Given the description of an element on the screen output the (x, y) to click on. 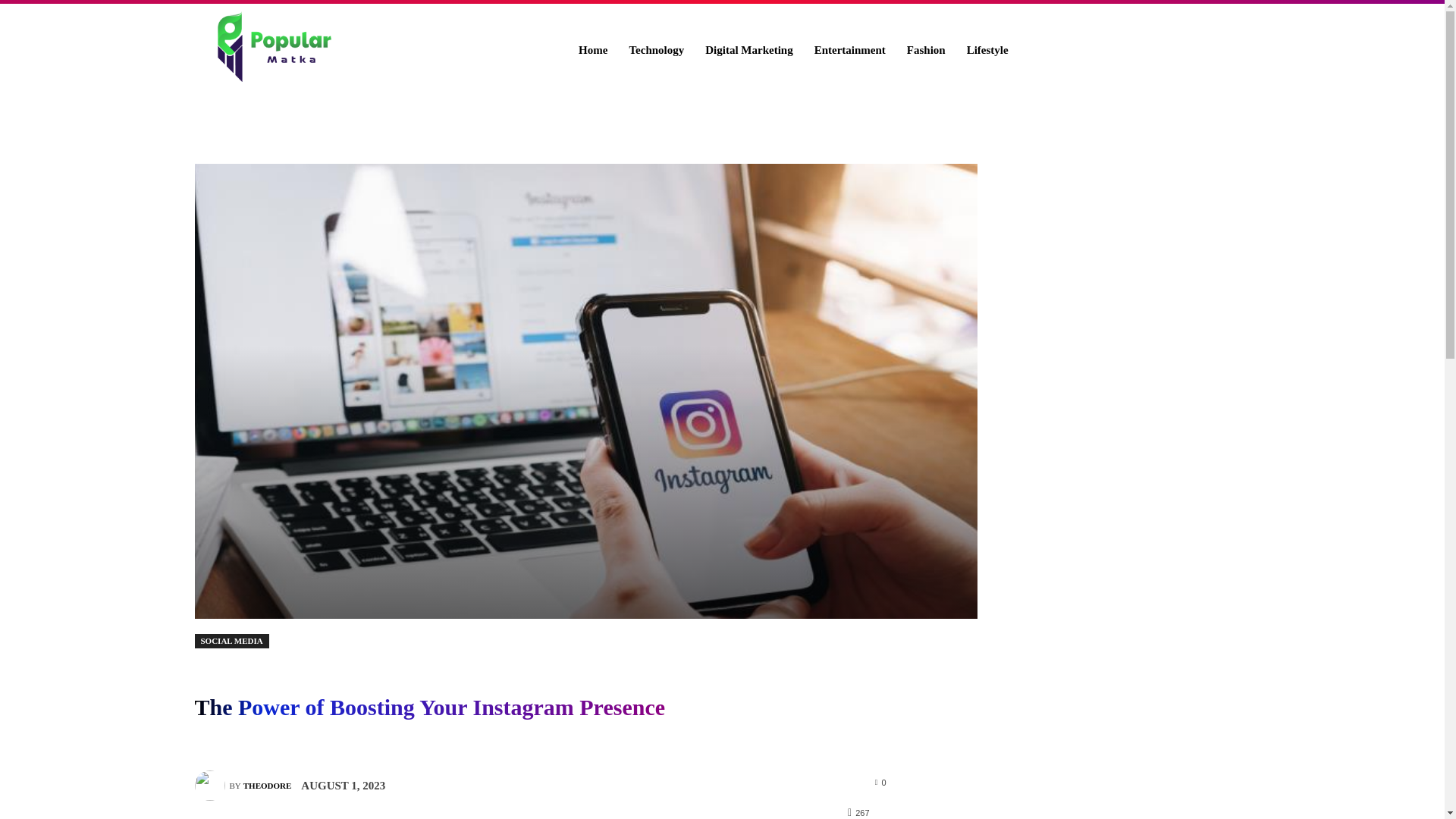
Theodore (210, 785)
Lifestyle (987, 49)
SOCIAL MEDIA (230, 640)
Technology (655, 49)
0 (880, 781)
Digital Marketing (748, 49)
THEODORE (267, 784)
Home (592, 49)
Fashion (926, 49)
Entertainment (849, 49)
